Given the description of an element on the screen output the (x, y) to click on. 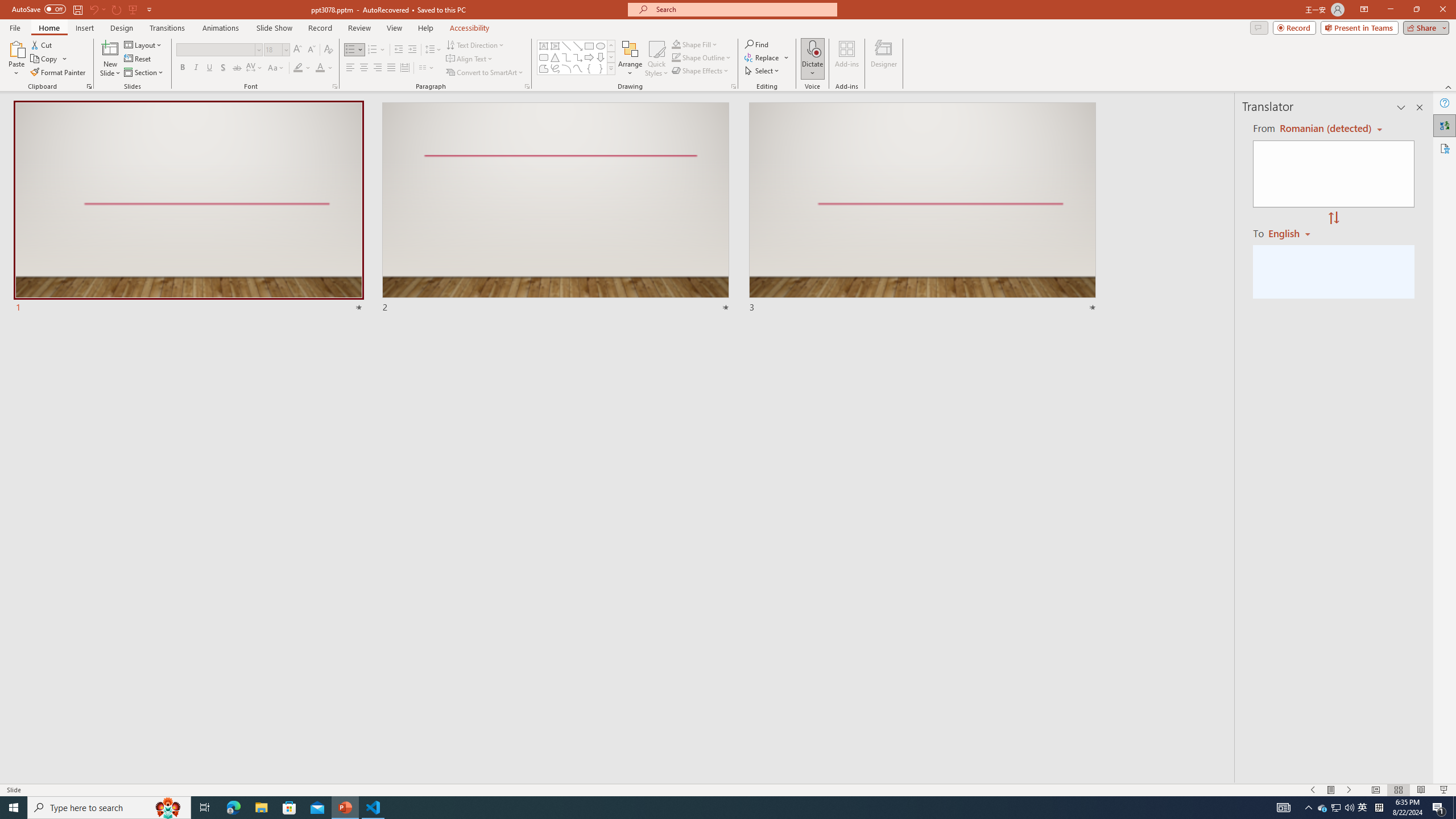
Shape Fill Dark Green, Accent 2 (675, 44)
